Given the description of an element on the screen output the (x, y) to click on. 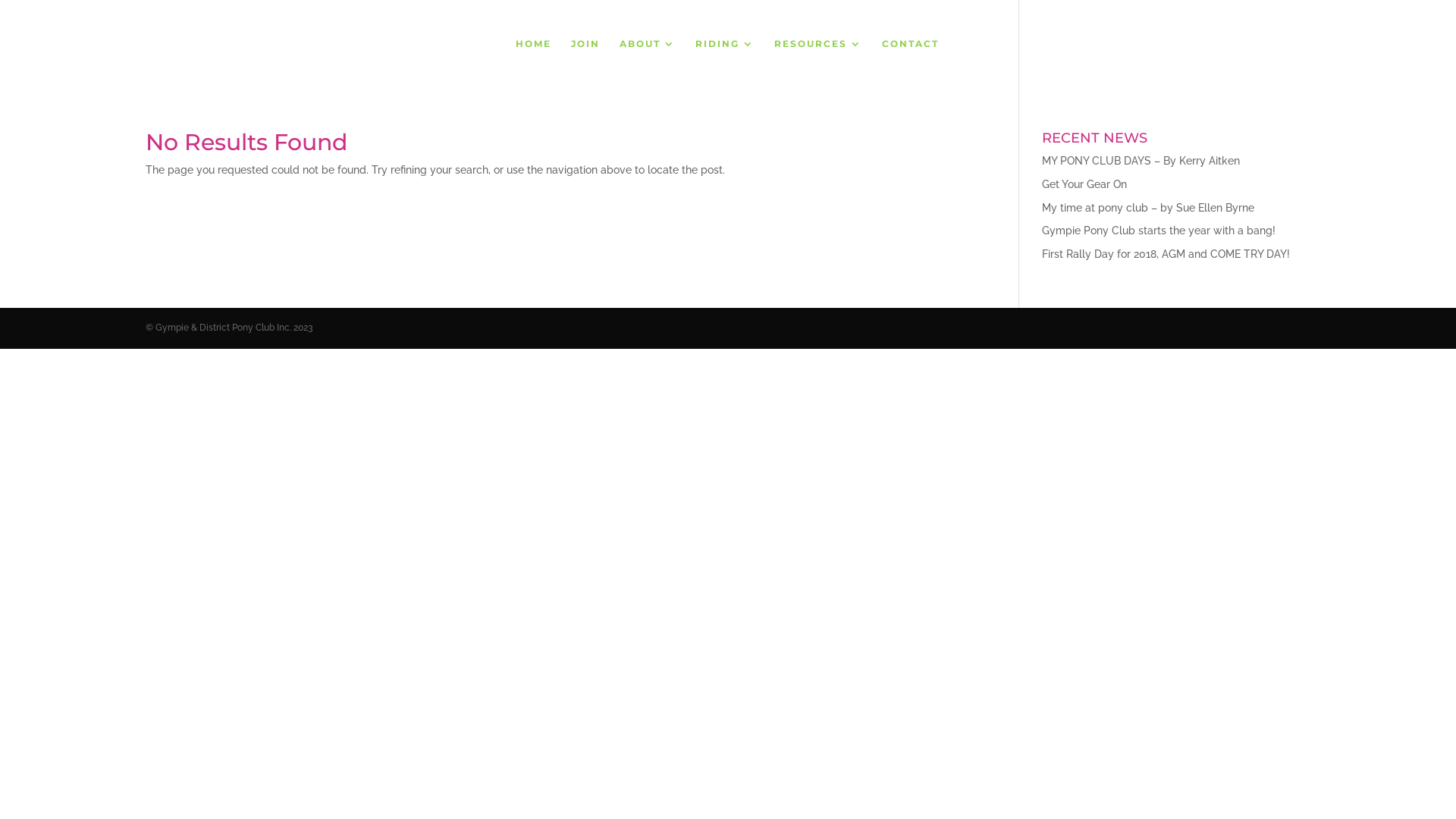
ABOUT Element type: text (647, 62)
First Rally Day for 2018, AGM and COME TRY DAY! Element type: text (1165, 253)
HOME Element type: text (533, 62)
RESOURCES Element type: text (818, 62)
JOIN Element type: text (585, 62)
CONTACT Element type: text (909, 62)
RIDING Element type: text (724, 62)
Gympie Pony Club starts the year with a bang! Element type: text (1158, 230)
Get Your Gear On Element type: text (1083, 184)
